Given the description of an element on the screen output the (x, y) to click on. 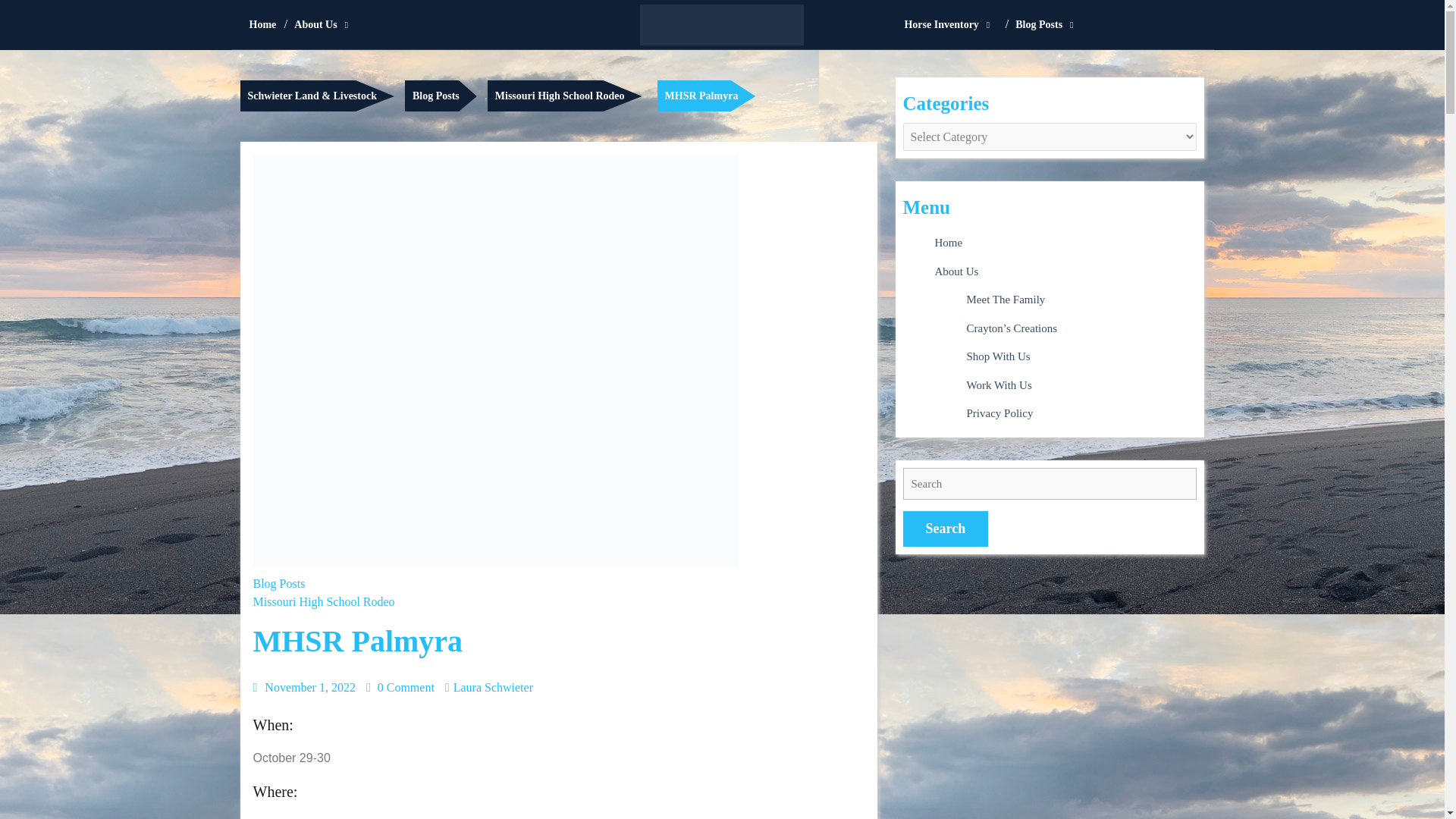
Home (262, 24)
Search (945, 529)
Search (945, 529)
About Us (325, 24)
